Given the description of an element on the screen output the (x, y) to click on. 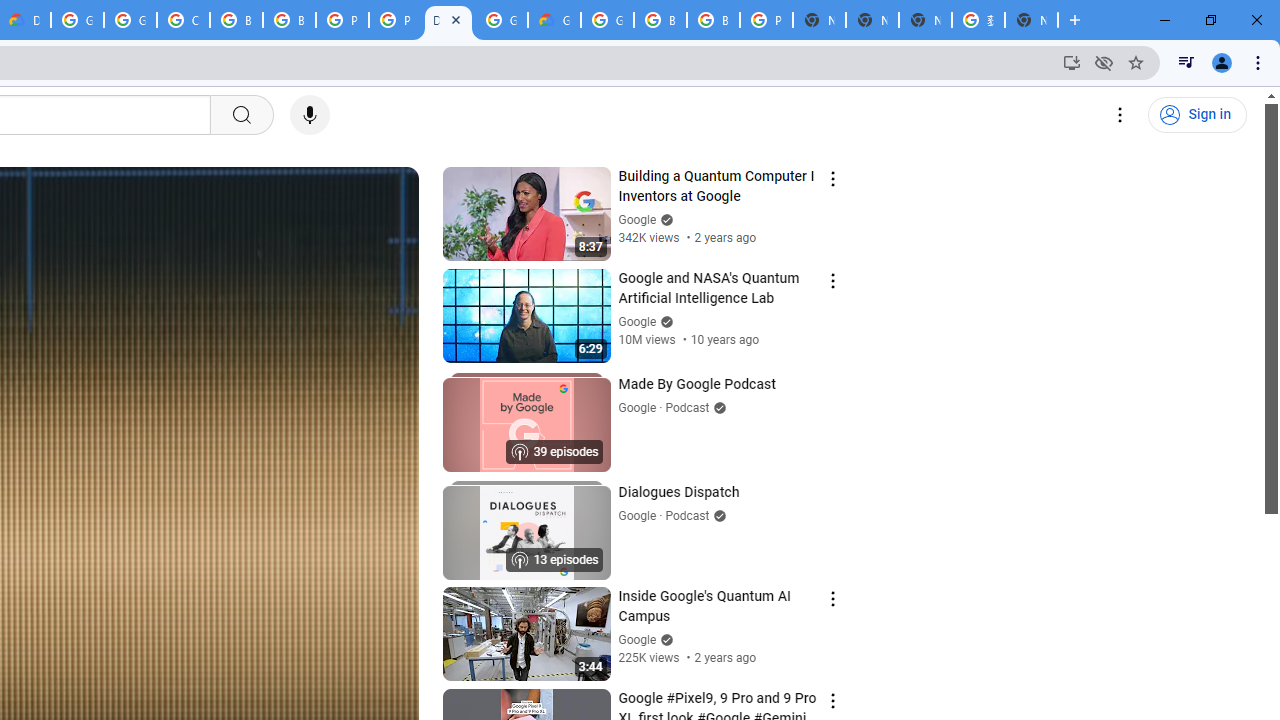
Install YouTube (1071, 62)
Verified (664, 639)
Browse Chrome as a guest - Computer - Google Chrome Help (289, 20)
